Given the description of an element on the screen output the (x, y) to click on. 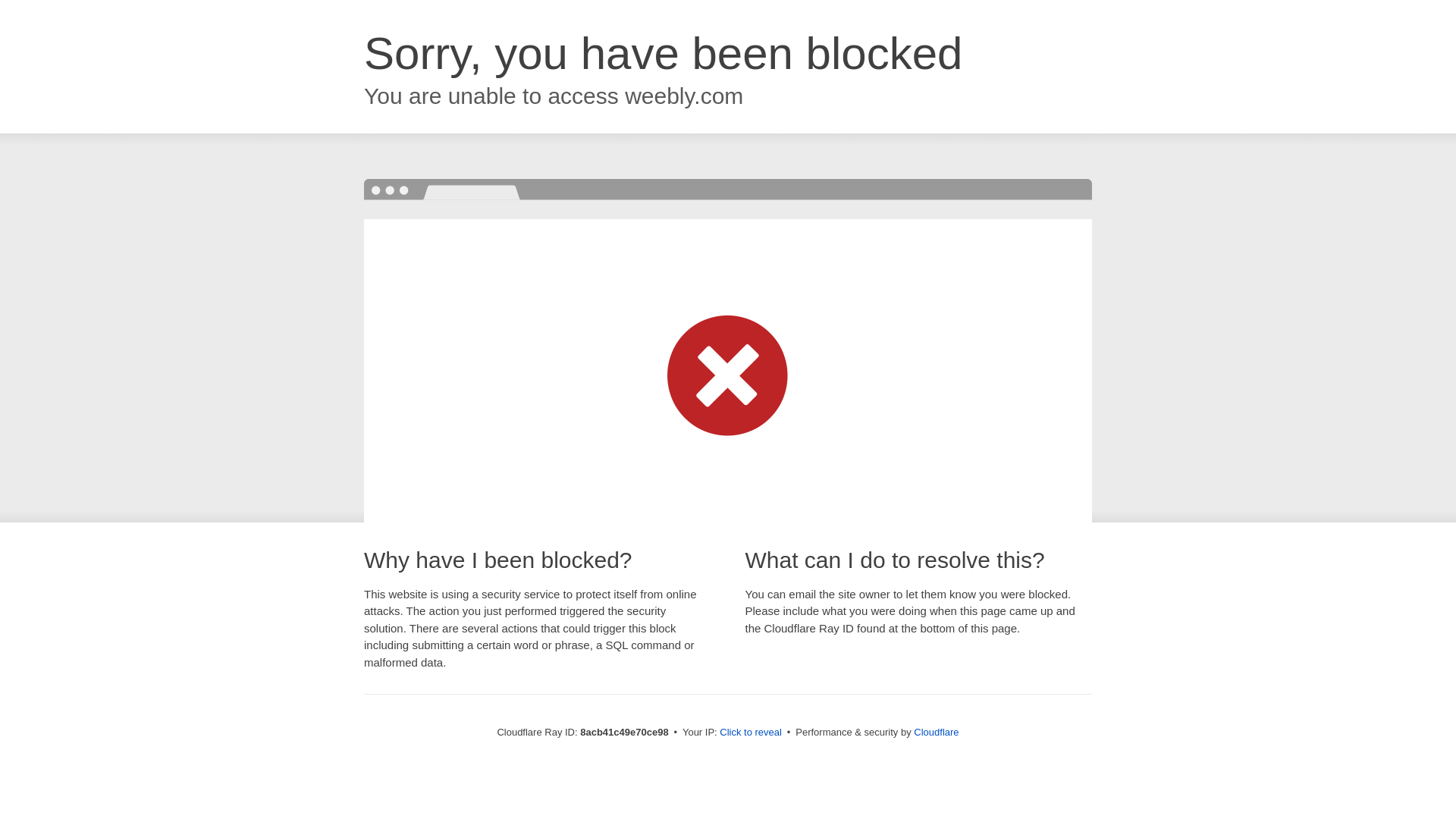
Cloudflare (936, 731)
Click to reveal (750, 732)
